Given the description of an element on the screen output the (x, y) to click on. 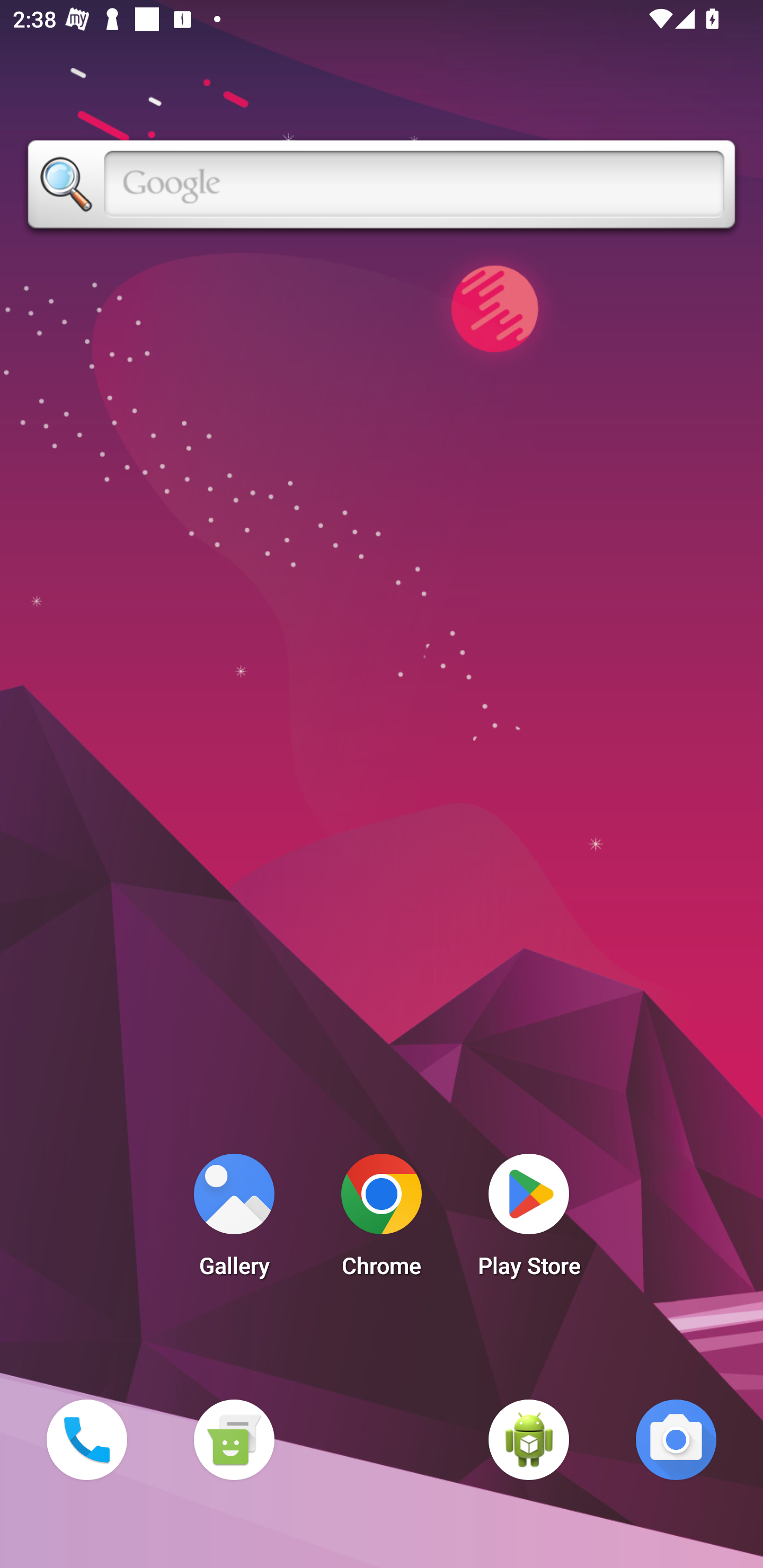
Gallery (233, 1220)
Chrome (381, 1220)
Play Store (528, 1220)
Phone (86, 1439)
Messaging (233, 1439)
WebView Browser Tester (528, 1439)
Camera (676, 1439)
